Given the description of an element on the screen output the (x, y) to click on. 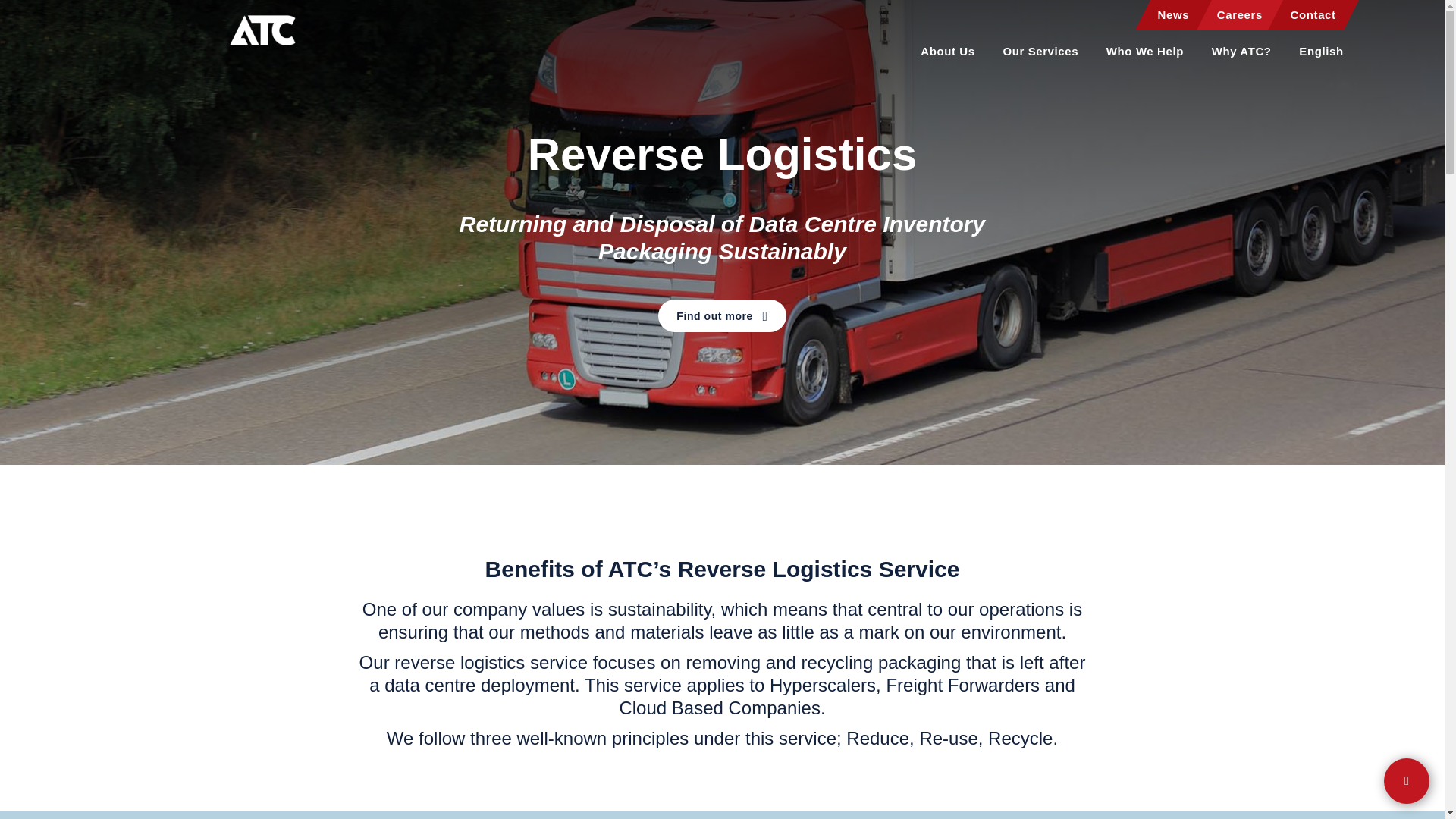
Our Services (1040, 55)
Contact (1313, 18)
Why ATC? (1241, 55)
Careers (1239, 18)
Who We Help (1144, 55)
About Us (947, 55)
Find out more (722, 315)
English (1320, 55)
English (1320, 55)
